Given the description of an element on the screen output the (x, y) to click on. 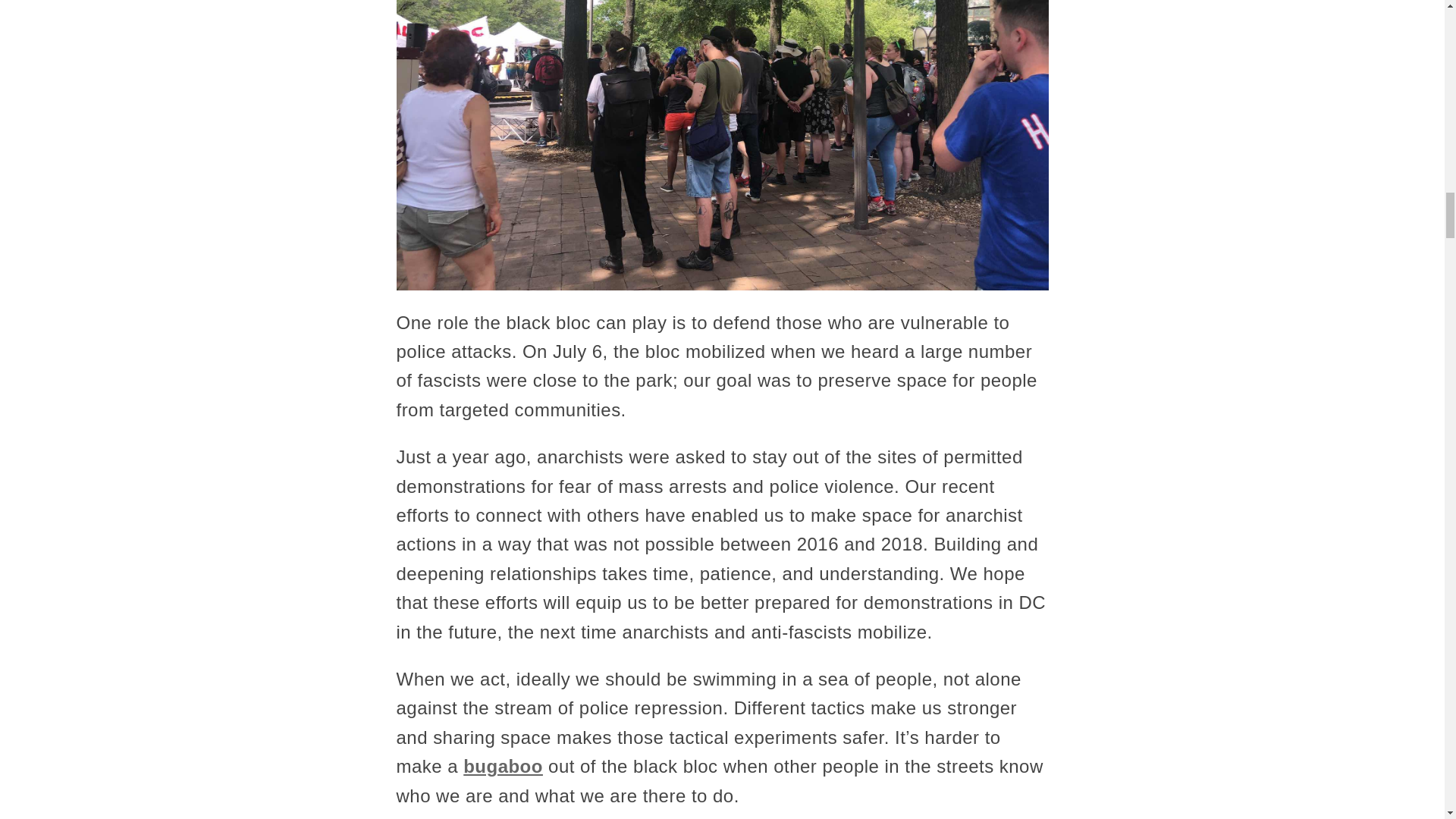
bugaboo (503, 765)
